Given the description of an element on the screen output the (x, y) to click on. 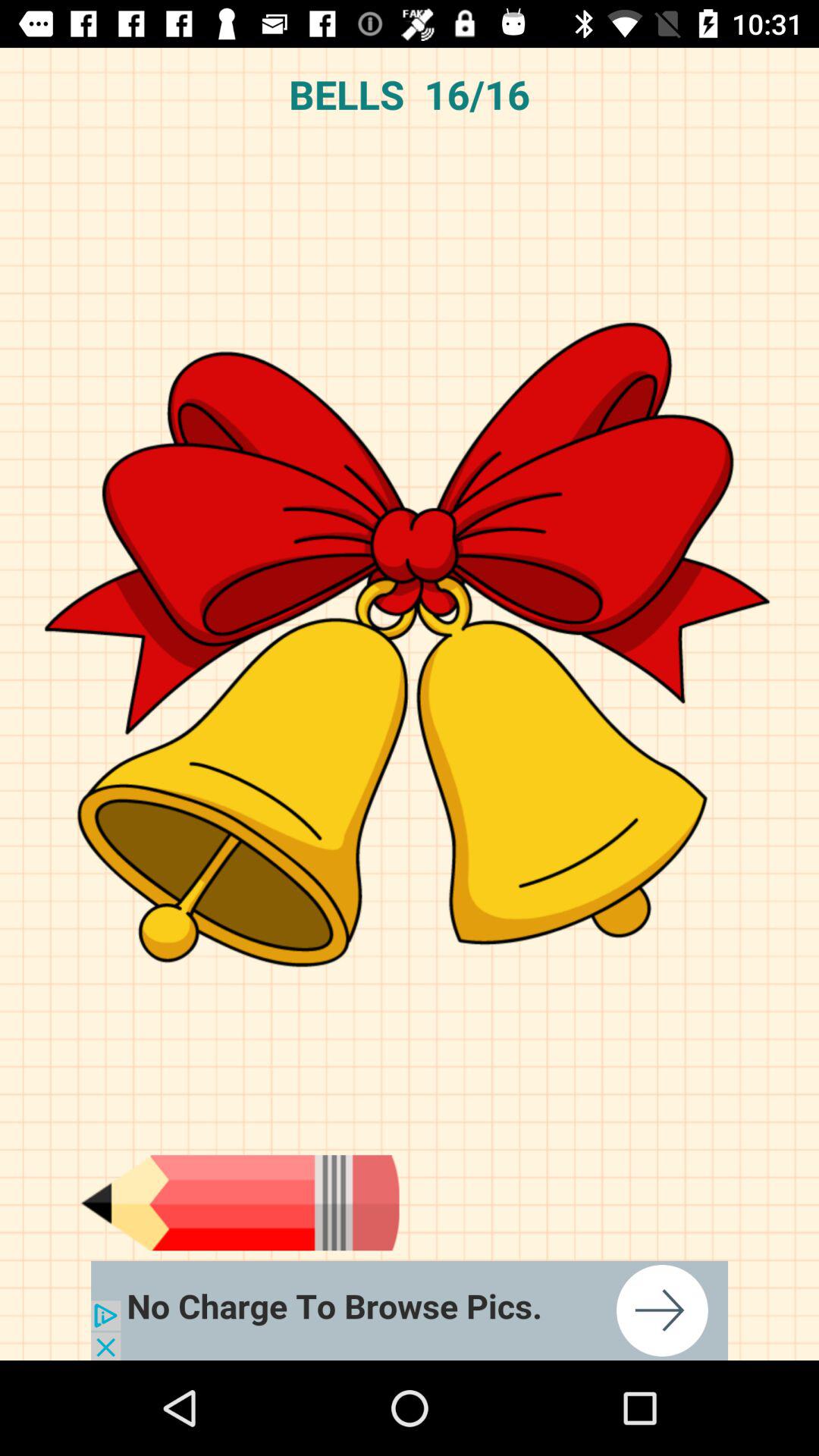
go back a page (239, 1202)
